Given the description of an element on the screen output the (x, y) to click on. 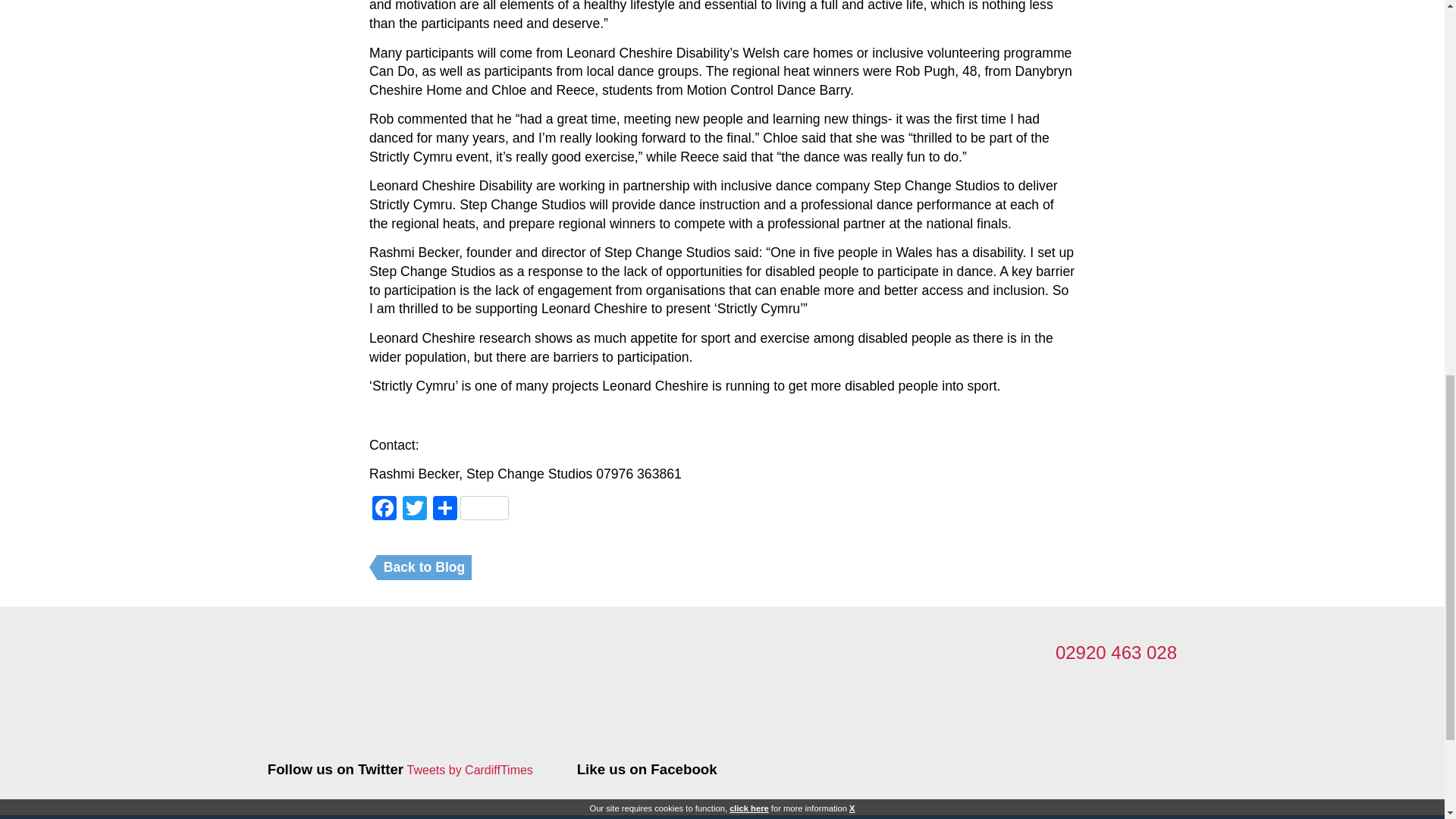
Twitter (413, 510)
Facebook (383, 510)
Tweets by CardiffTimes (469, 770)
02920 463 028 (1115, 652)
Share (470, 510)
Back to Blog (424, 567)
Twitter (413, 510)
Facebook (383, 510)
